Given the description of an element on the screen output the (x, y) to click on. 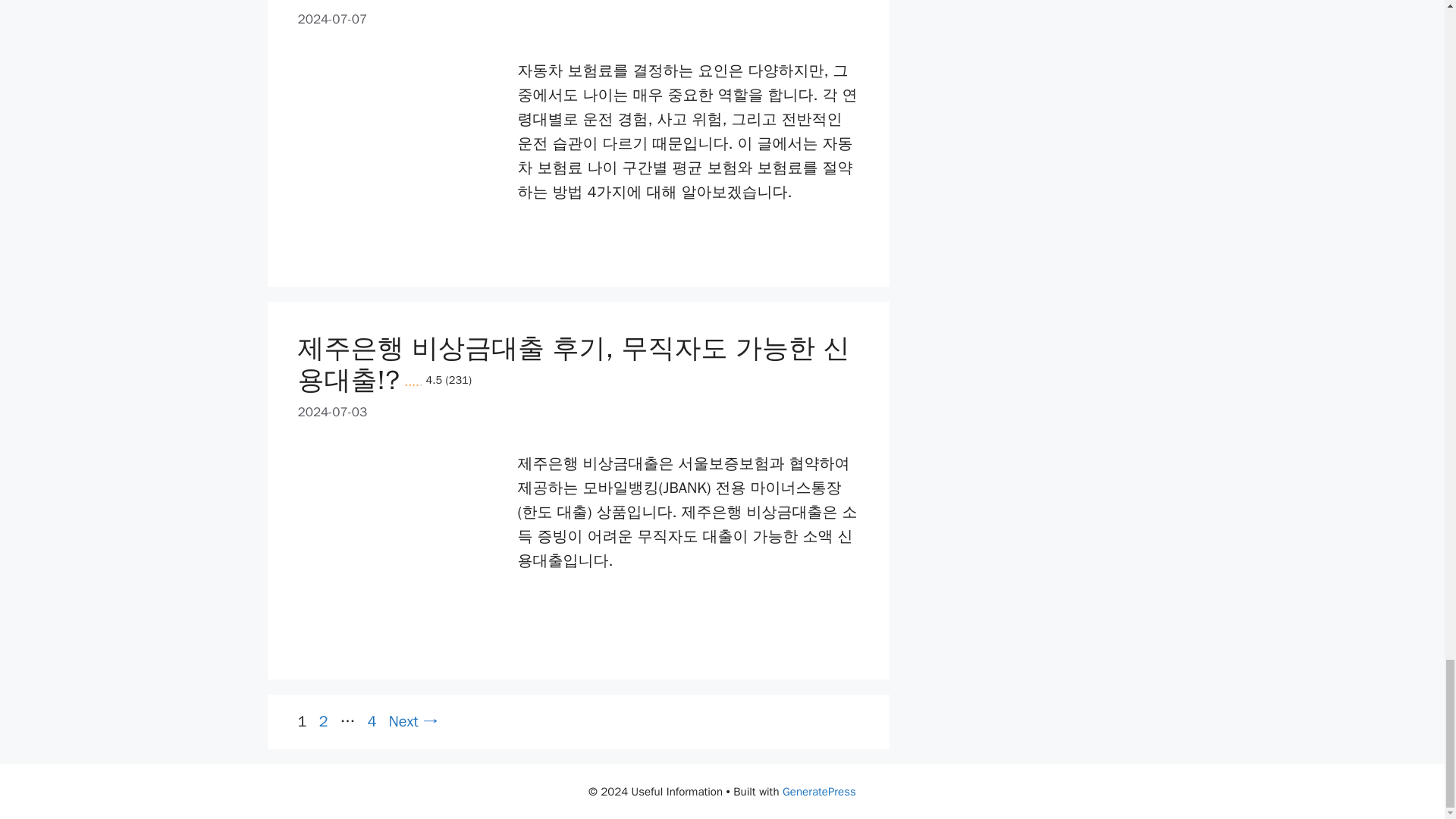
GeneratePress (819, 791)
